Given the description of an element on the screen output the (x, y) to click on. 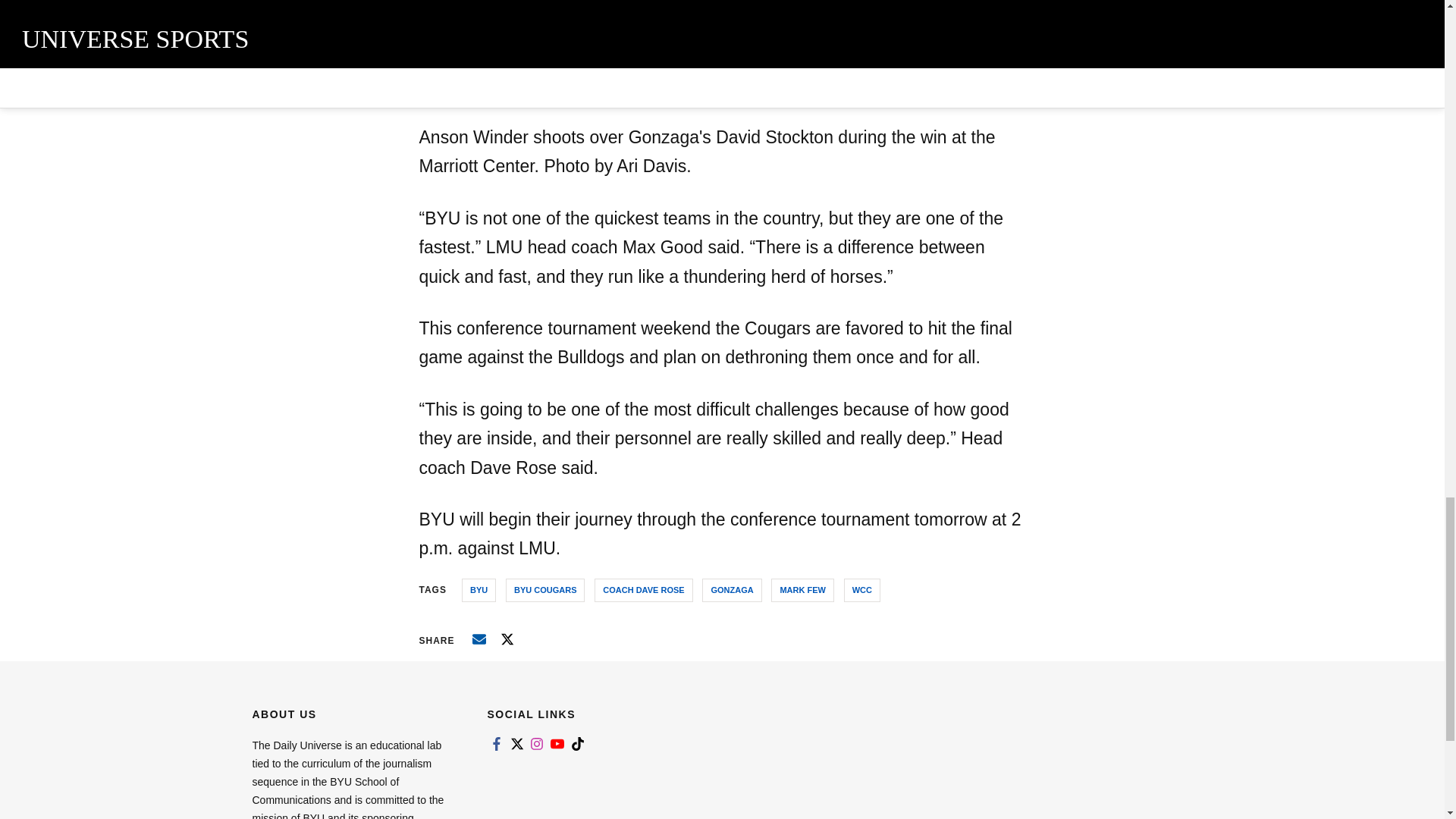
Link to tiktok (577, 744)
GONZAGA (731, 589)
Link to instagram (536, 744)
BYU COUGARS (545, 589)
COACH DAVE ROSE (643, 589)
Link to facebook (495, 744)
Email (478, 639)
BYU (478, 589)
Link to youtube (557, 744)
WCC (862, 589)
